Given the description of an element on the screen output the (x, y) to click on. 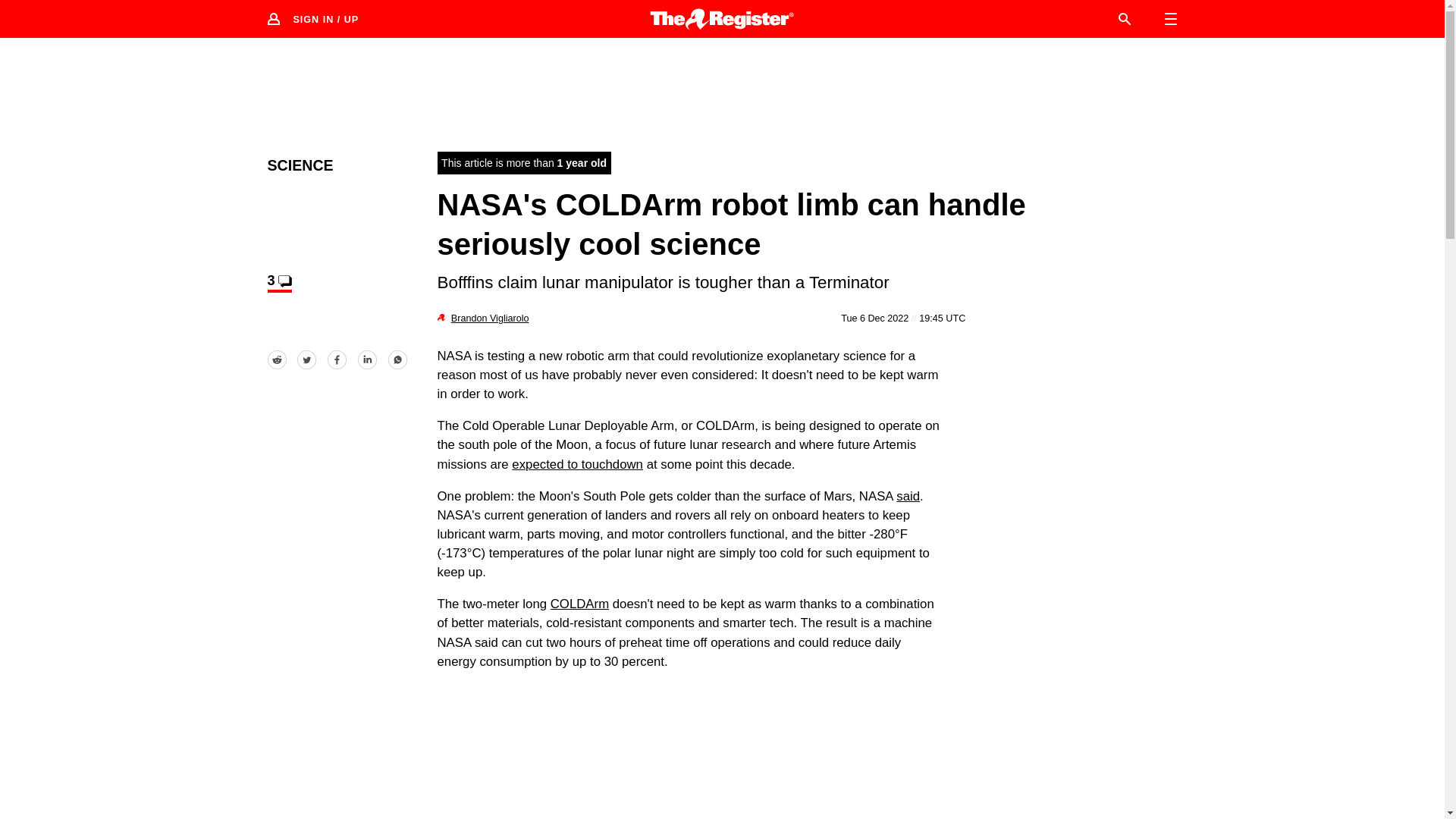
View comments on this article (278, 282)
Read more by this author (490, 318)
